Given the description of an element on the screen output the (x, y) to click on. 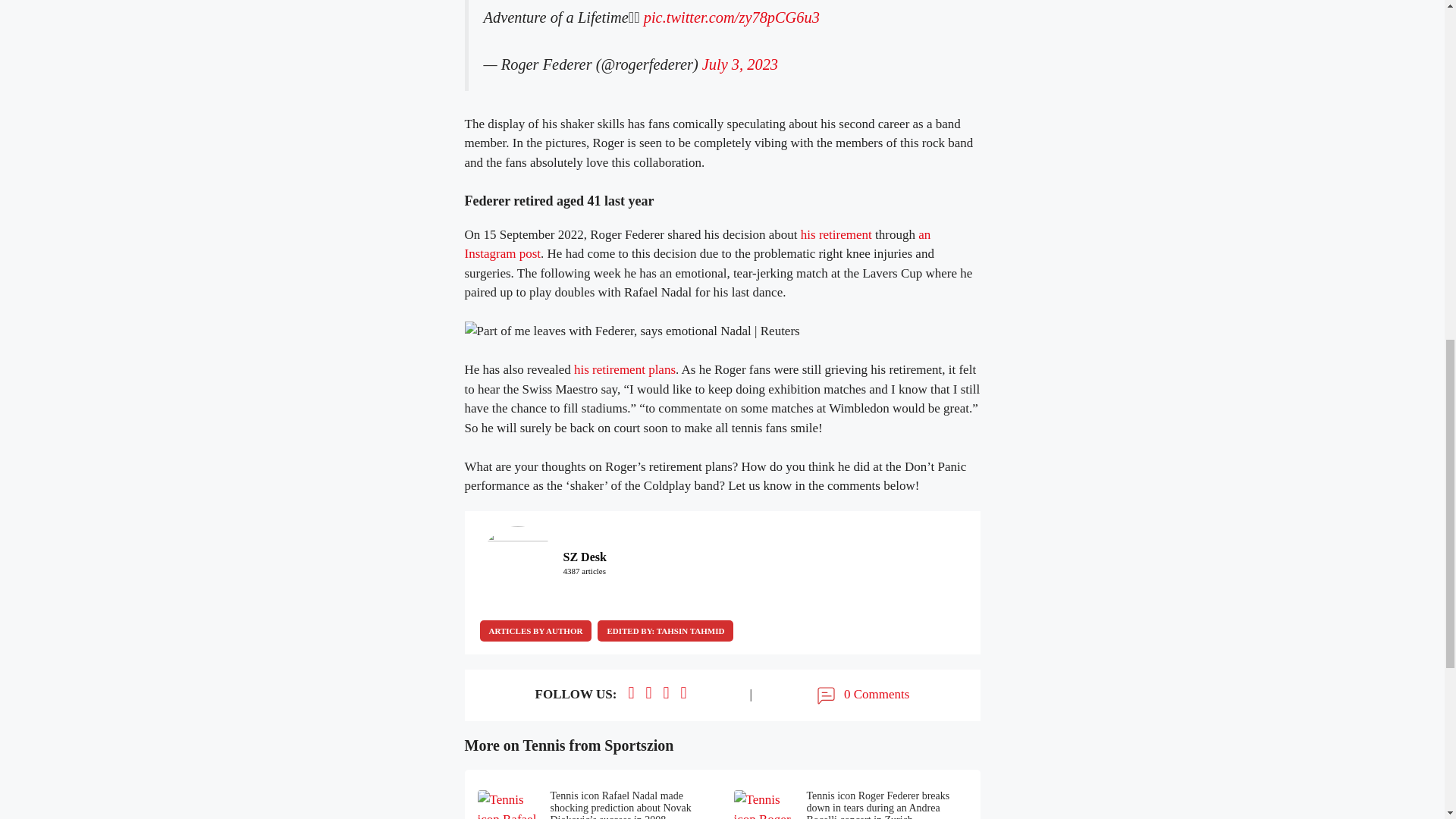
July 3, 2023 (739, 64)
EDITED BY: TAHSIN TAHMID (664, 630)
his retirement (836, 234)
ARTICLES BY AUTHOR (535, 630)
0 Comments (861, 694)
his retirement plans (624, 369)
an Instagram post (697, 244)
